Given the description of an element on the screen output the (x, y) to click on. 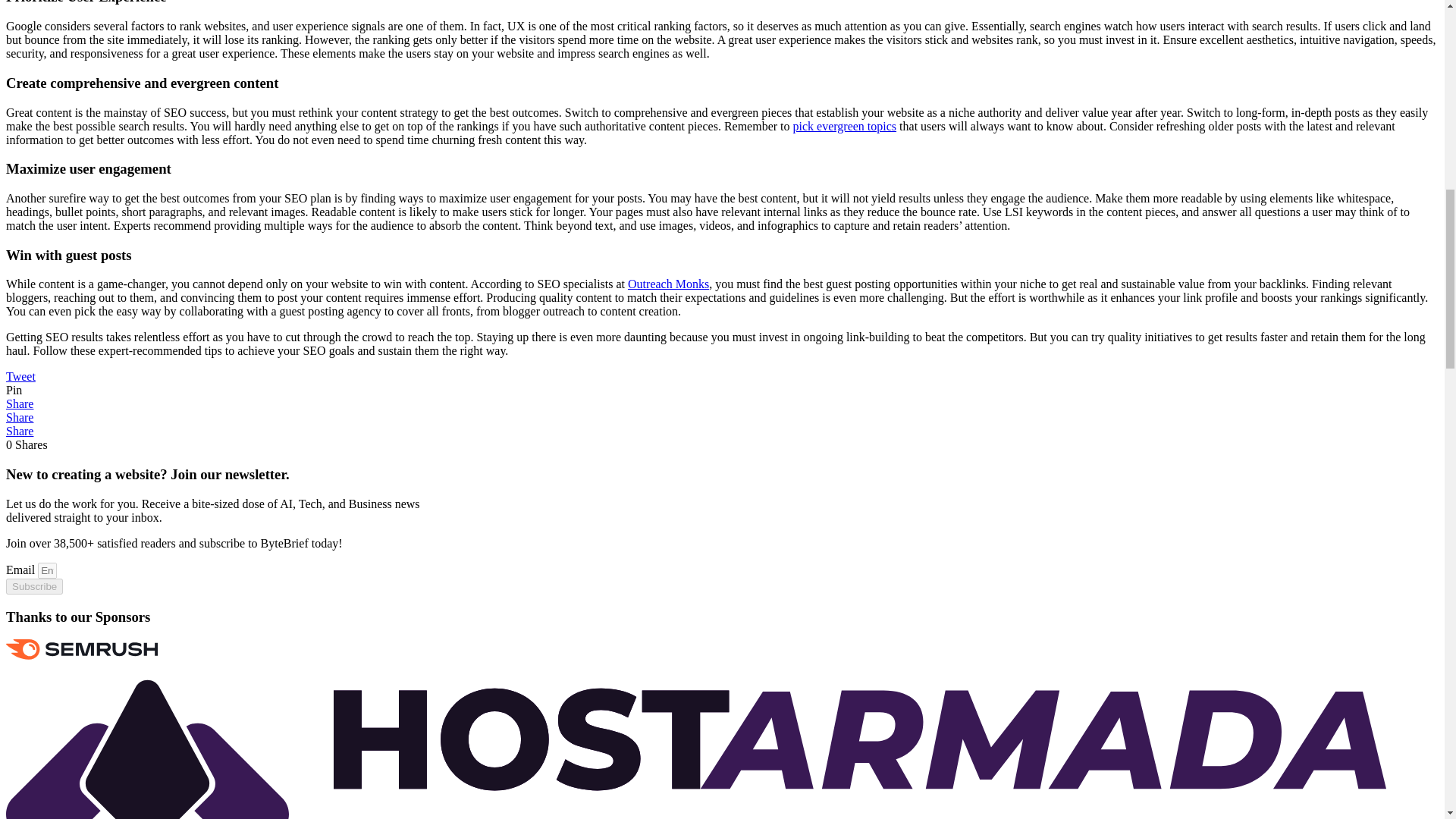
pick evergreen topics (844, 125)
Share (19, 403)
Share (19, 431)
Subscribe (33, 586)
Pin (13, 390)
Outreach Monks (668, 283)
Share (19, 417)
Tweet (19, 376)
